Given the description of an element on the screen output the (x, y) to click on. 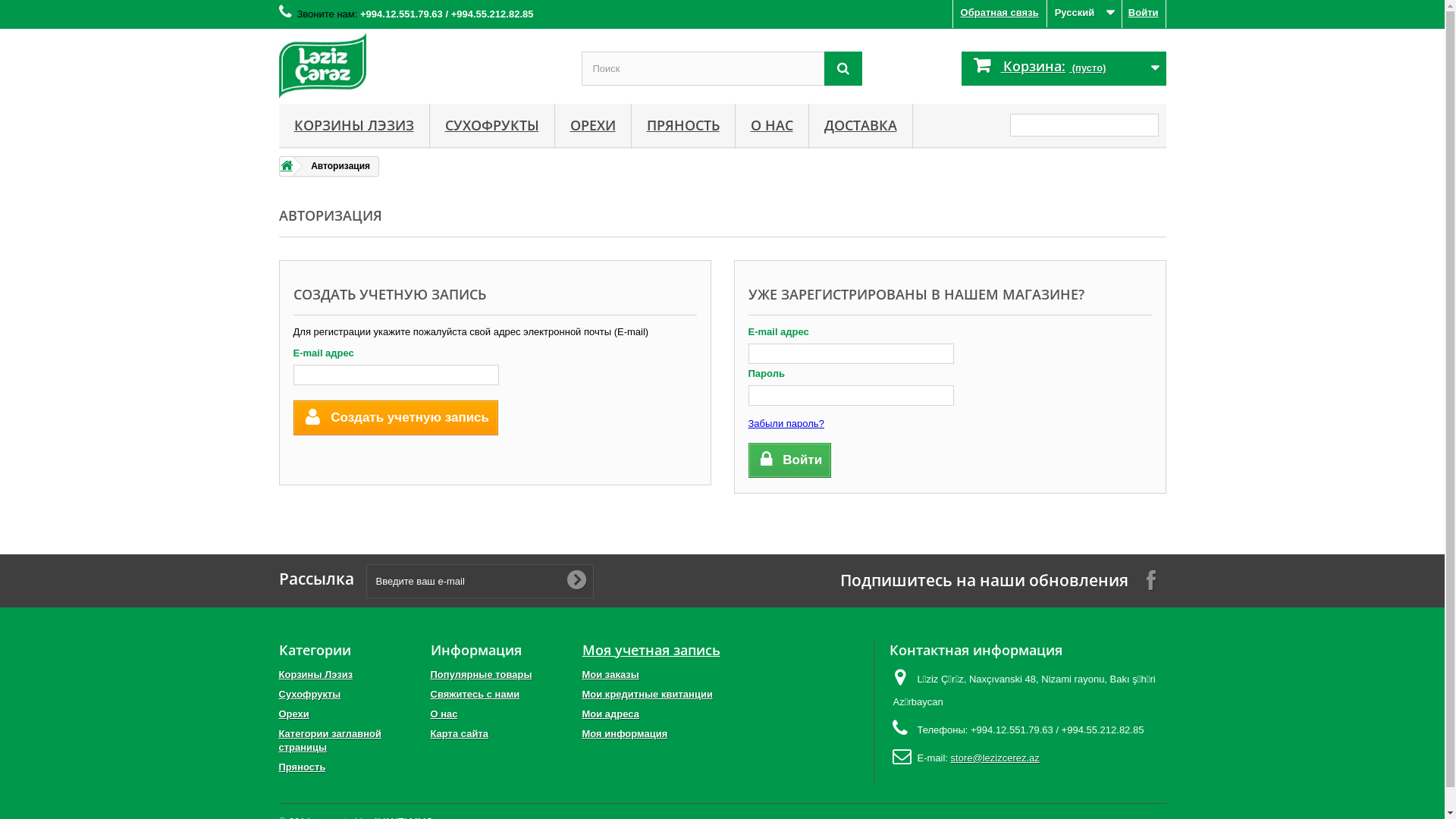
LezizCerez Element type: hover (419, 65)
store@lezizcerez.az Element type: text (994, 757)
